Given the description of an element on the screen output the (x, y) to click on. 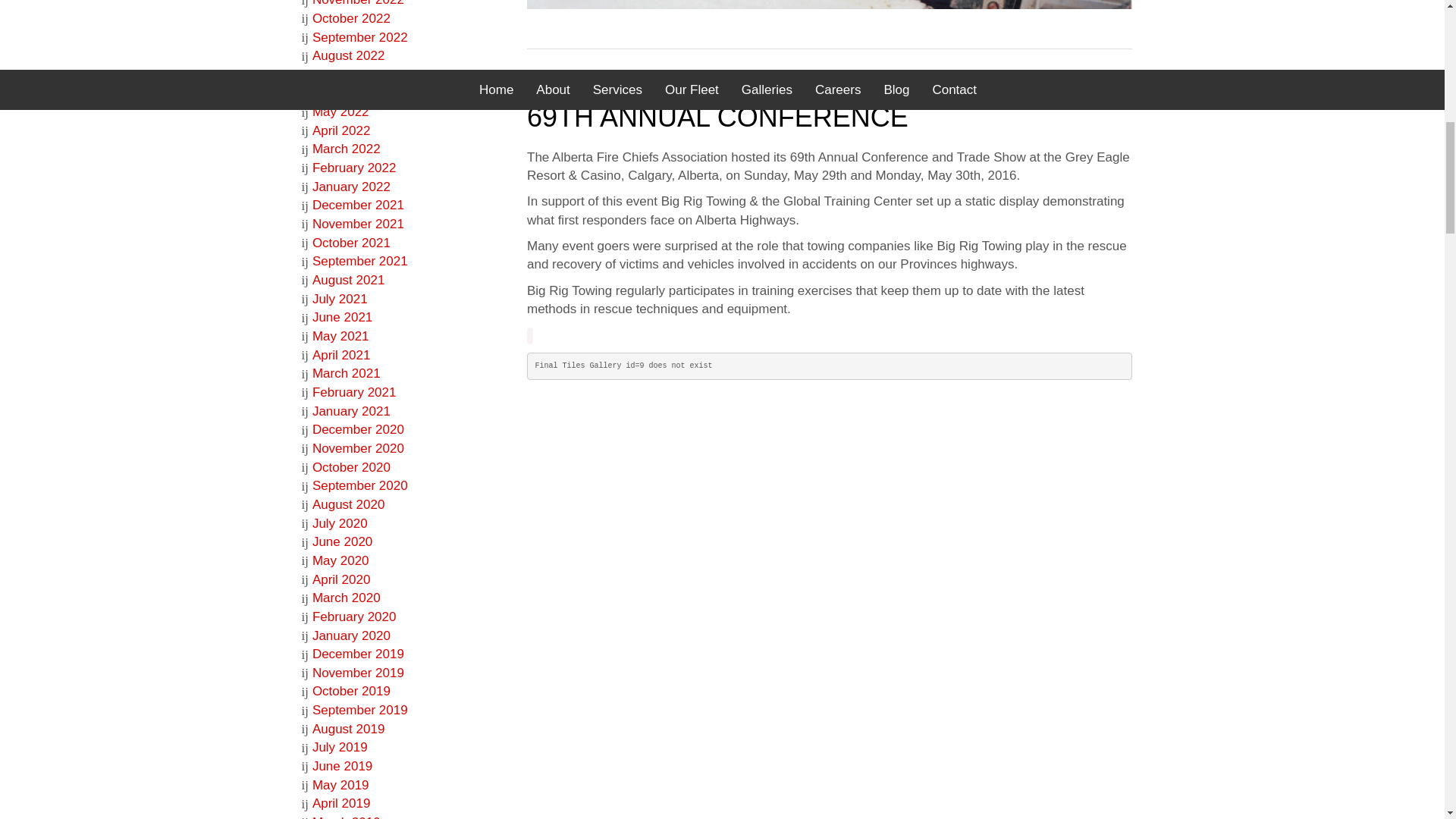
69th Annual Conference (717, 116)
